Given the description of an element on the screen output the (x, y) to click on. 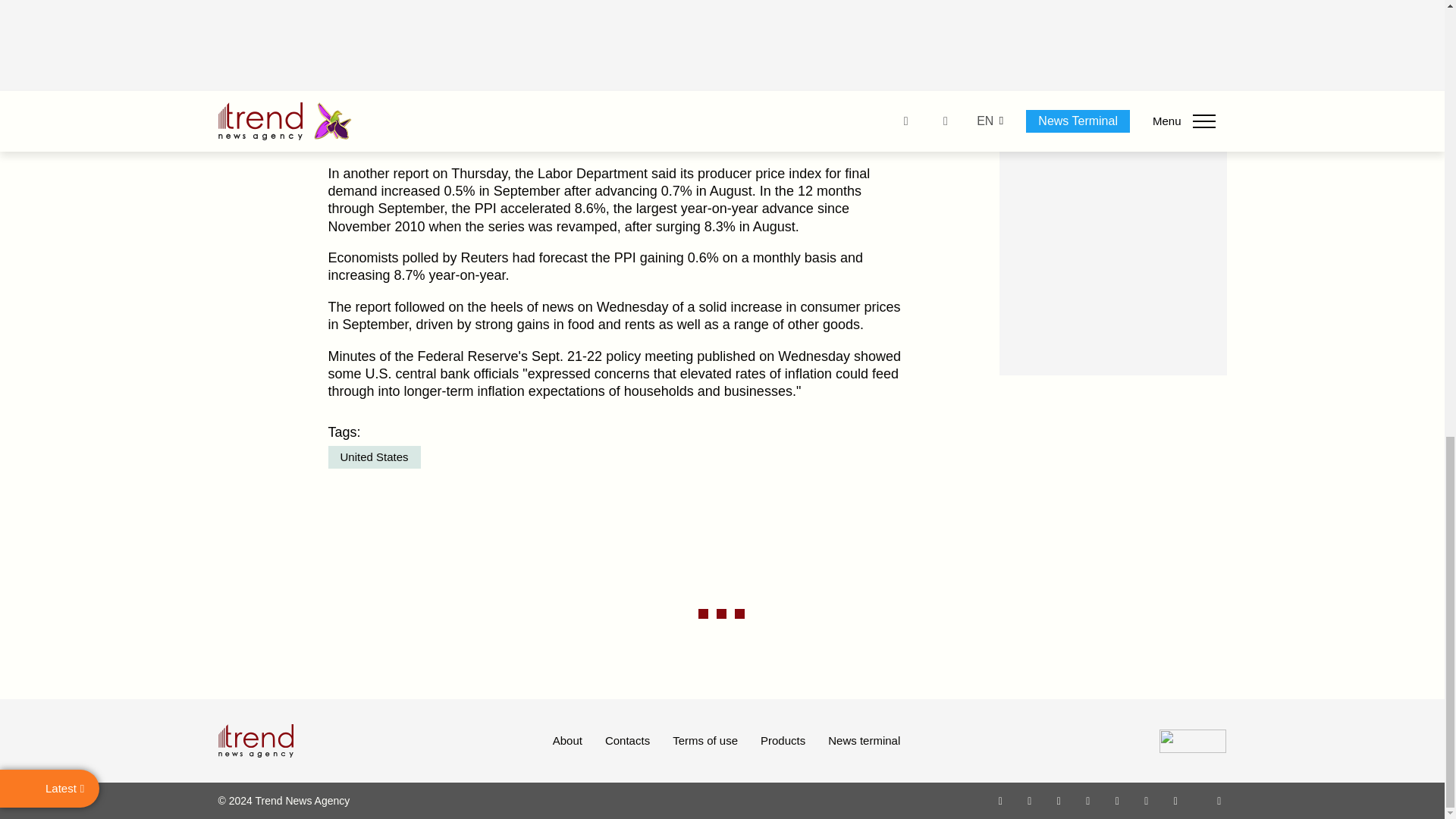
Twitter (1059, 800)
Telegram (1117, 800)
RSS Feed (1219, 800)
Android App (1176, 800)
Youtube (1088, 800)
Whatsapp (1000, 800)
Facebook (1029, 800)
LinkedIn (1146, 800)
